Given the description of an element on the screen output the (x, y) to click on. 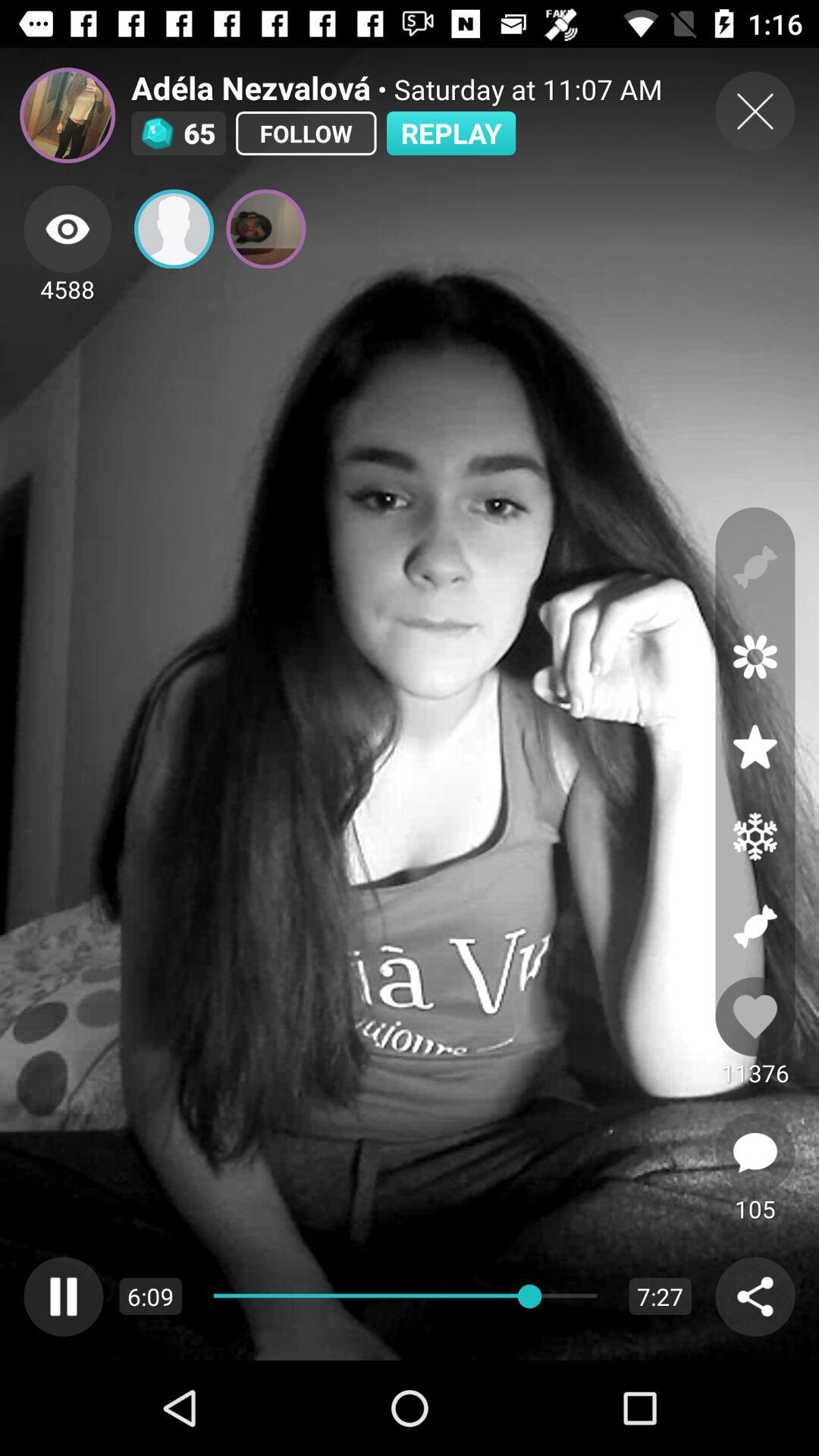
share (755, 1296)
